Given the description of an element on the screen output the (x, y) to click on. 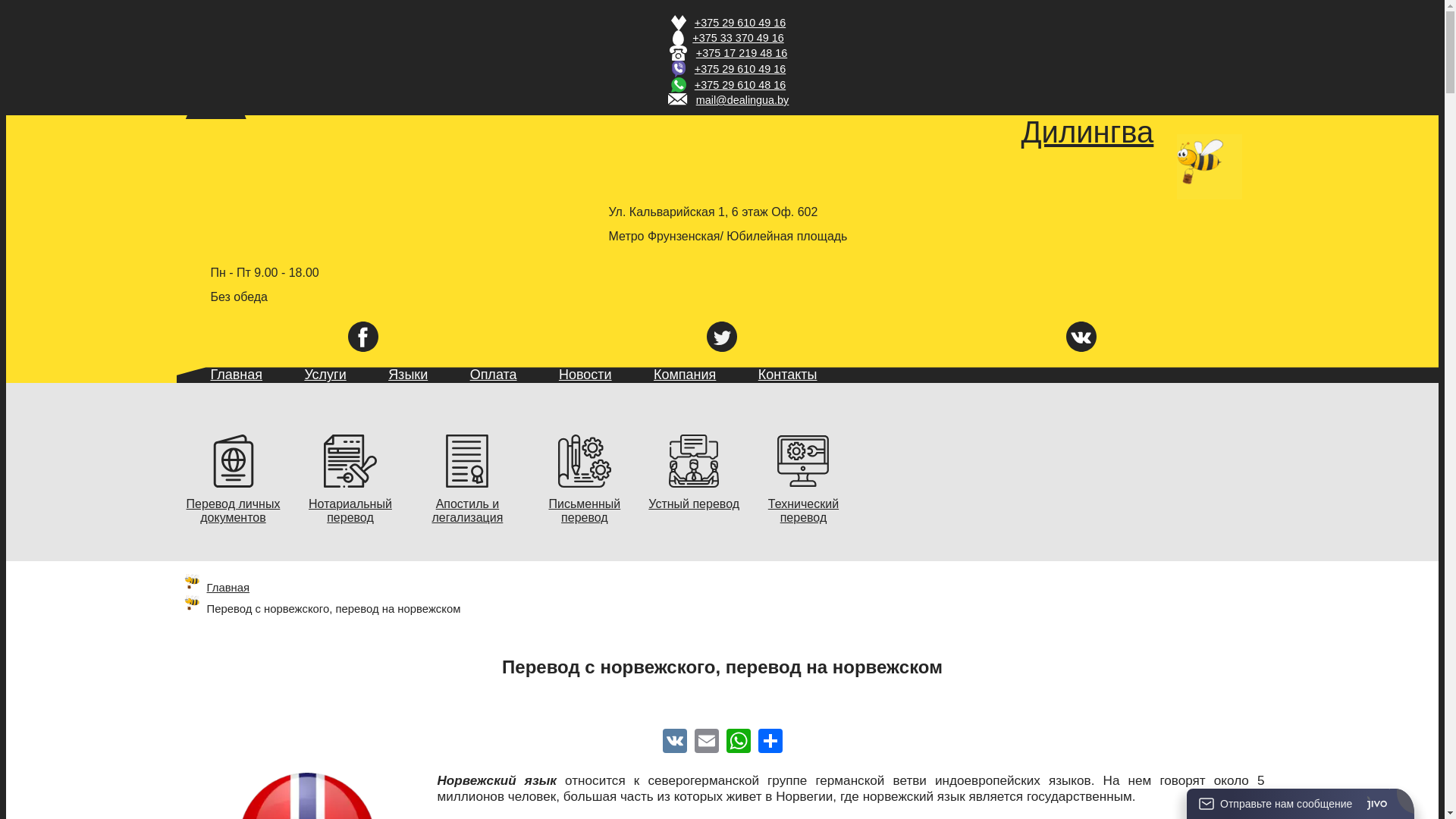
+375 29 610 49 16 Element type: text (739, 22)
Email Element type: text (706, 739)
+375 29 610 49 16 Element type: text (739, 68)
VK Element type: text (674, 739)
+375 29 610 48 16 Element type: text (739, 84)
+375 33 370 49 16 Element type: text (737, 37)
+375 17 219 48 16 Element type: text (741, 53)
WhatsApp Element type: text (738, 739)
Share Element type: text (770, 739)
mail@dealingua.by Element type: text (742, 100)
